Given the description of an element on the screen output the (x, y) to click on. 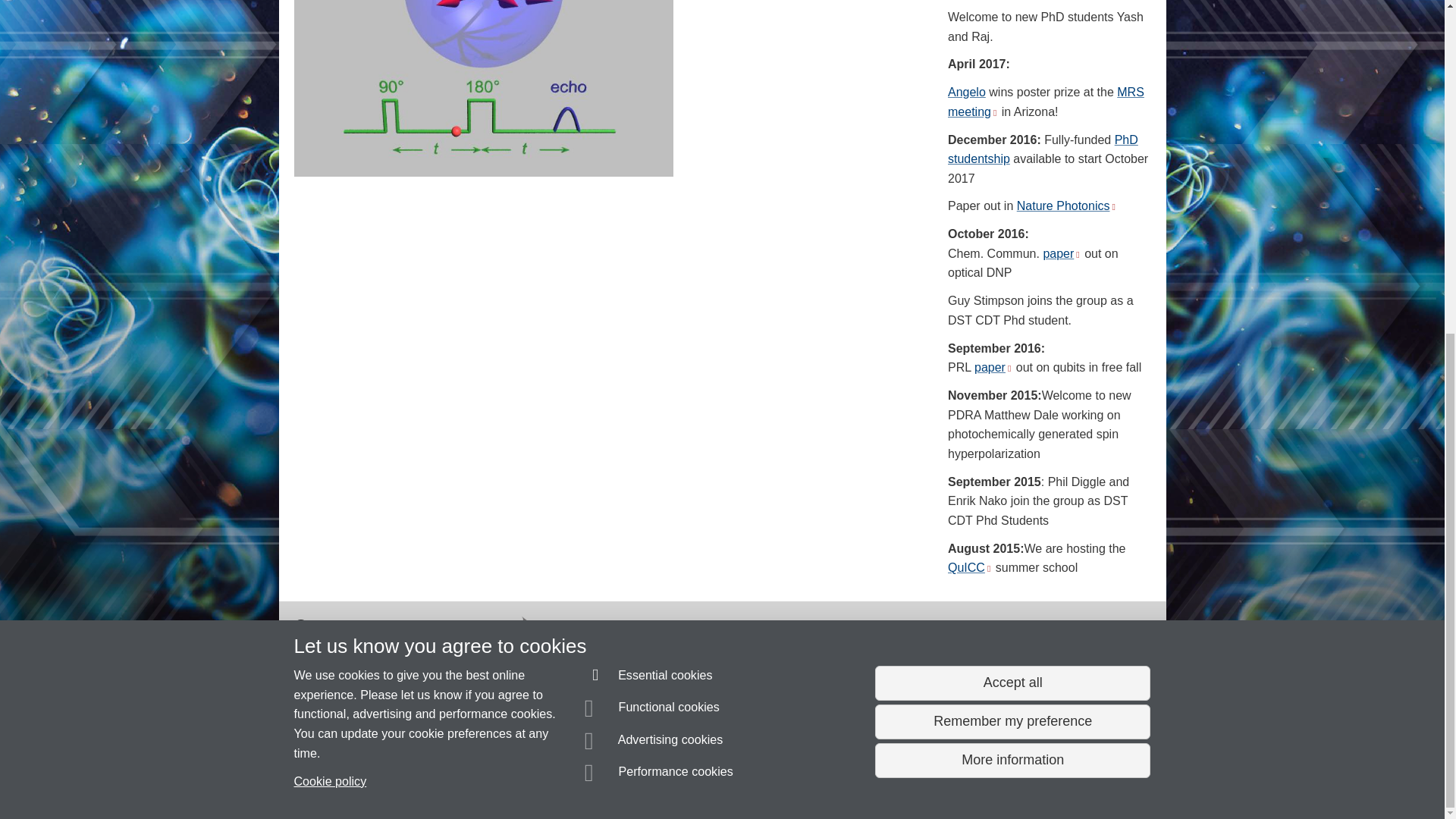
Send an email to Mark Newton (378, 751)
Copyright Statement (514, 780)
Information about cookies (467, 780)
More information about SiteBuilder (365, 780)
Privacy notice (673, 780)
